Given the description of an element on the screen output the (x, y) to click on. 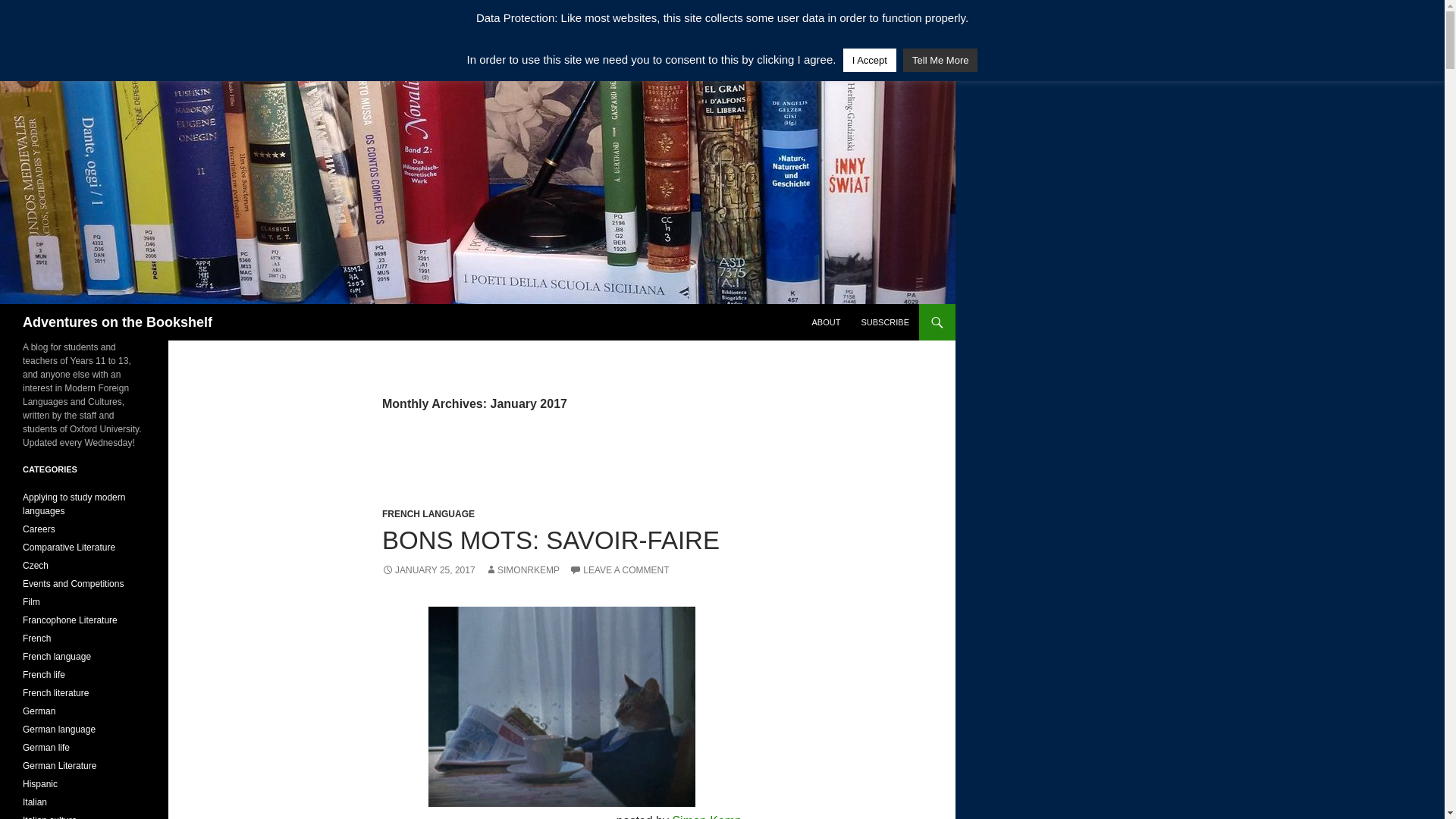
ABOUT (825, 321)
SUBSCRIBE (884, 321)
JANUARY 25, 2017 (428, 570)
Adventures on the Bookshelf (117, 321)
LEAVE A COMMENT (618, 570)
SIMONRKEMP (521, 570)
FRENCH LANGUAGE (427, 513)
Simon Kemp (706, 816)
BONS MOTS: SAVOIR-FAIRE (550, 540)
